Given the description of an element on the screen output the (x, y) to click on. 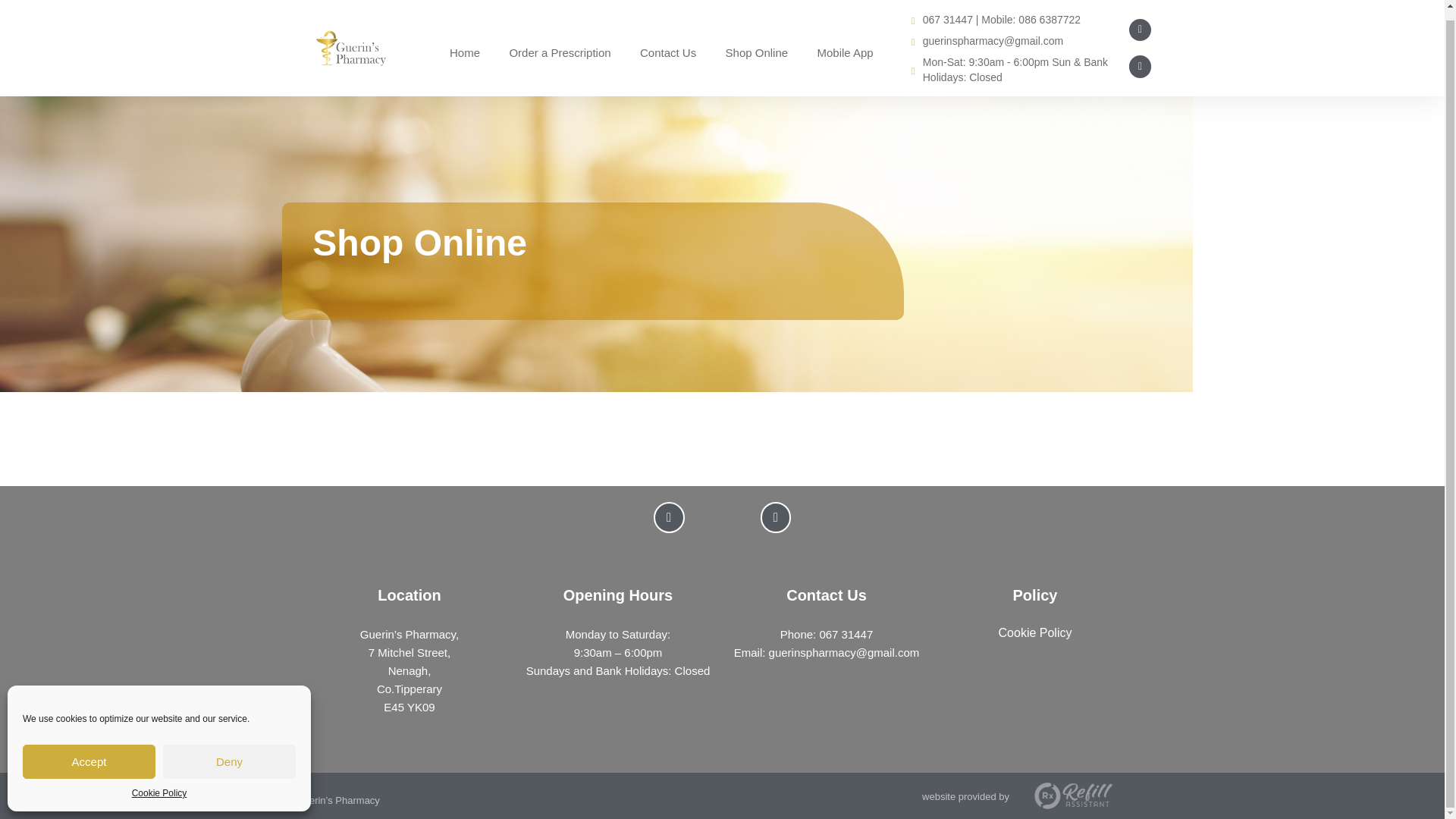
Accept (89, 751)
Order a Prescription (560, 43)
Cookie Policy (159, 783)
Home (464, 43)
Contact Us (668, 43)
Shop Online (756, 43)
Mobile App (845, 43)
Deny (229, 751)
